Given the description of an element on the screen output the (x, y) to click on. 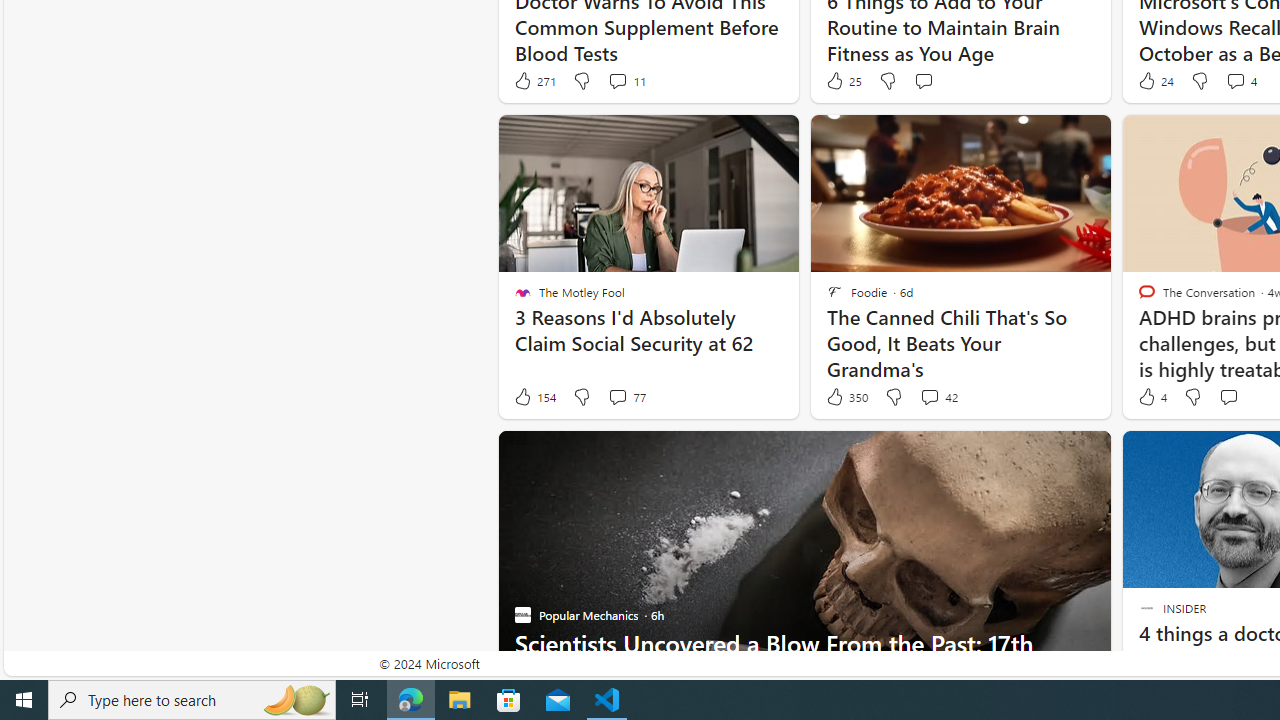
24 Like (1154, 80)
View comments 11 Comment (626, 80)
25 Like (843, 80)
View comments 42 Comment (929, 396)
Start the conversation (1228, 396)
